Given the description of an element on the screen output the (x, y) to click on. 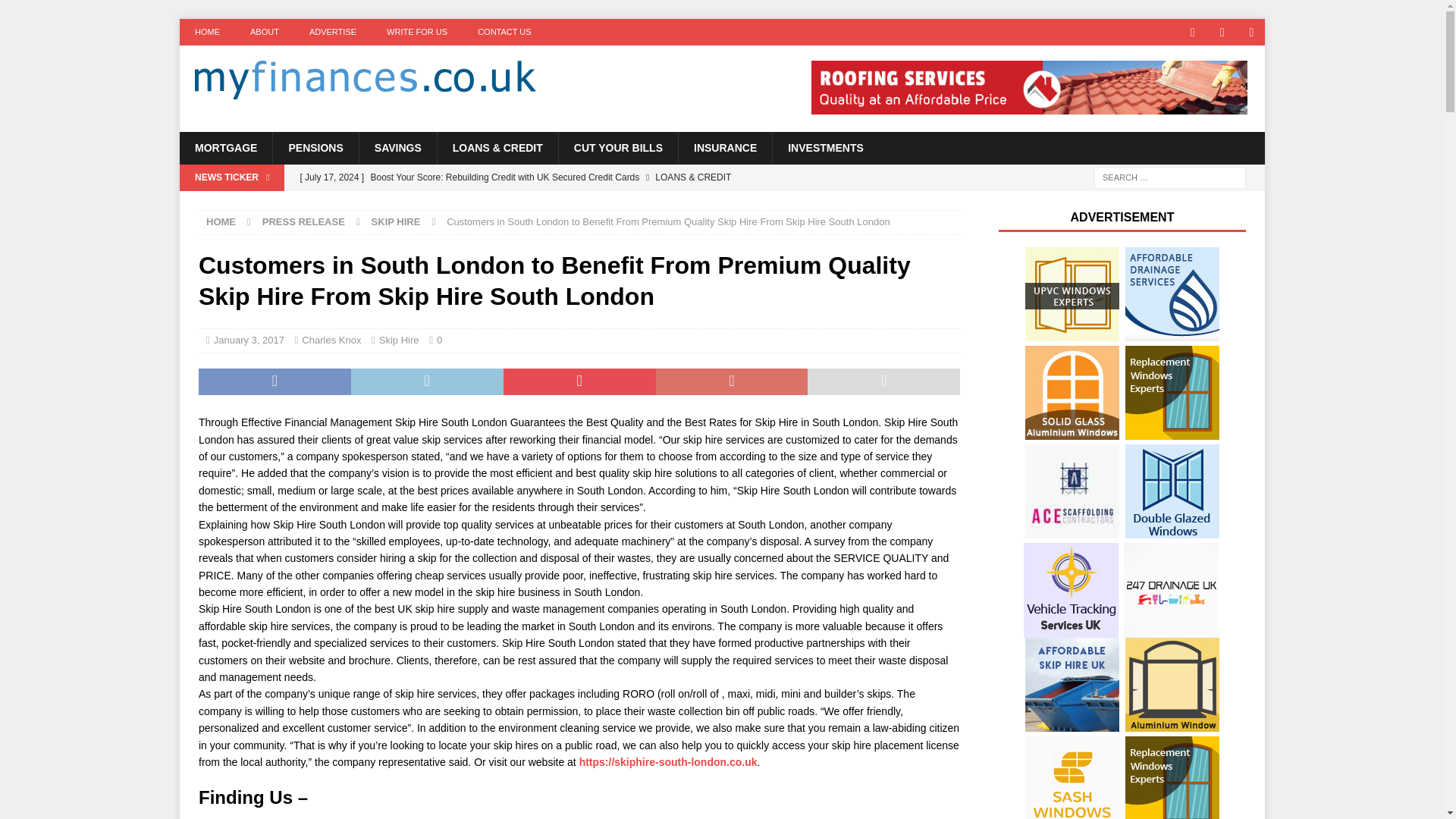
CUT YOUR BILLS (617, 147)
Search (56, 11)
INVESTMENTS (825, 147)
CONTACT US (505, 31)
PENSIONS (315, 147)
ABOUT (264, 31)
INSURANCE (724, 147)
HOME (220, 221)
WRITE FOR US (417, 31)
Mastering Social Media: Building a Brand in 2024 (589, 199)
MORTGAGE (225, 147)
SAVINGS (397, 147)
ADVERTISE (332, 31)
HOME (206, 31)
